Given the description of an element on the screen output the (x, y) to click on. 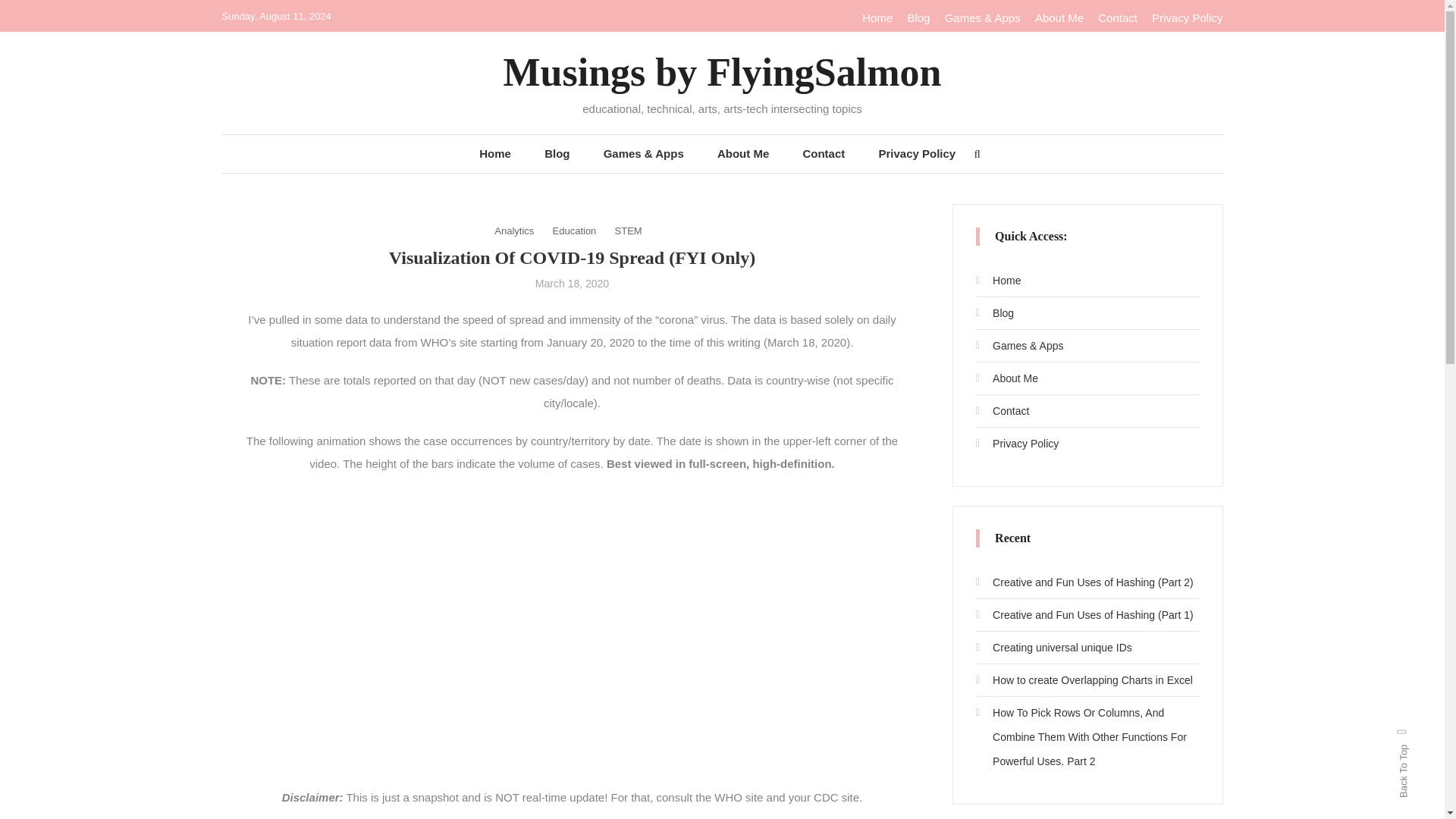
Analytics (514, 230)
Blog (557, 153)
STEM (628, 230)
Blog (994, 313)
Musings by FlyingSalmon (722, 72)
Home (494, 153)
Home (876, 17)
Contact (823, 153)
Search (768, 432)
About Me (1006, 378)
